Given the description of an element on the screen output the (x, y) to click on. 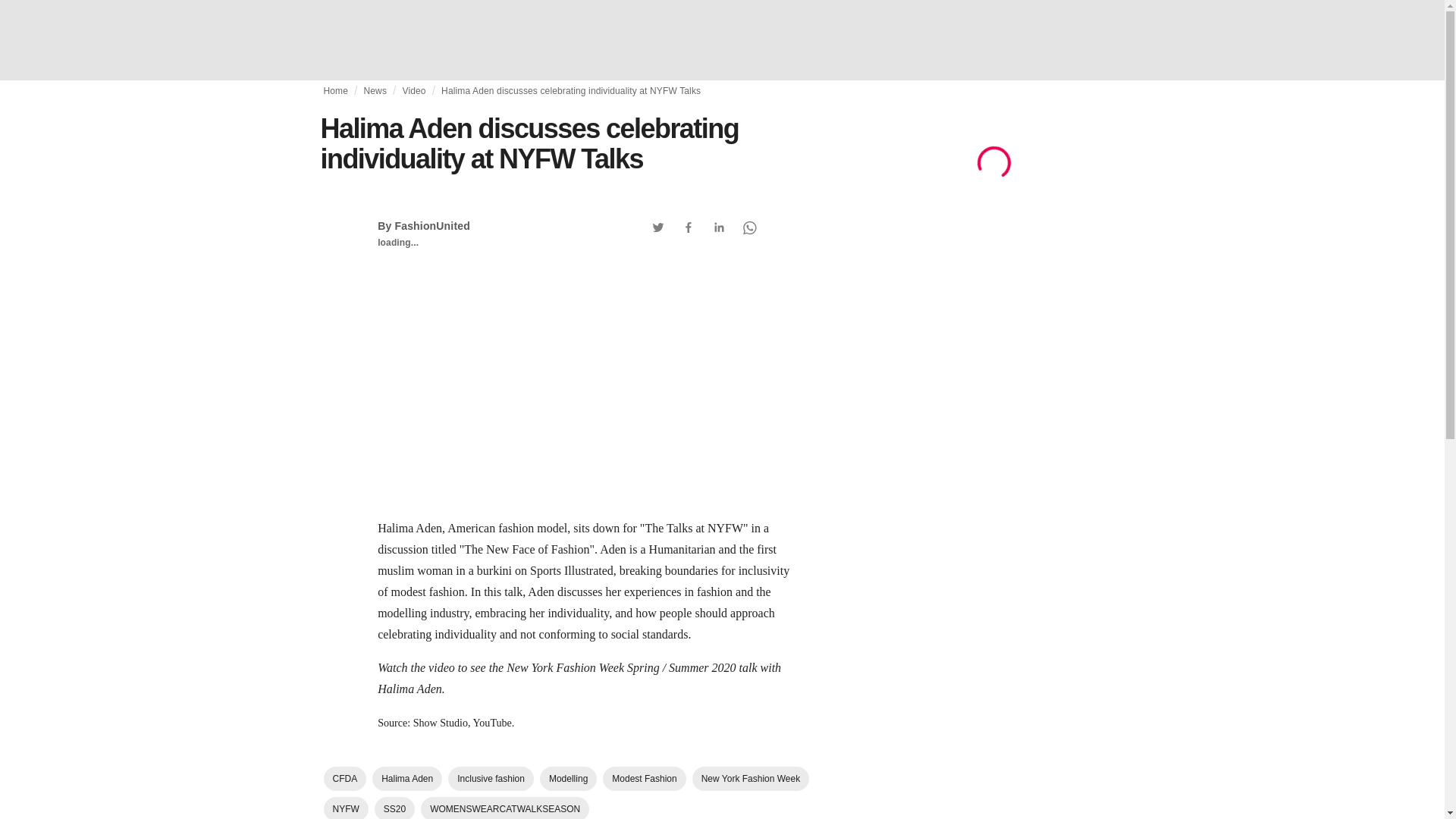
By FashionUnited (423, 225)
Video (413, 90)
News (375, 90)
Home (335, 90)
